Given the description of an element on the screen output the (x, y) to click on. 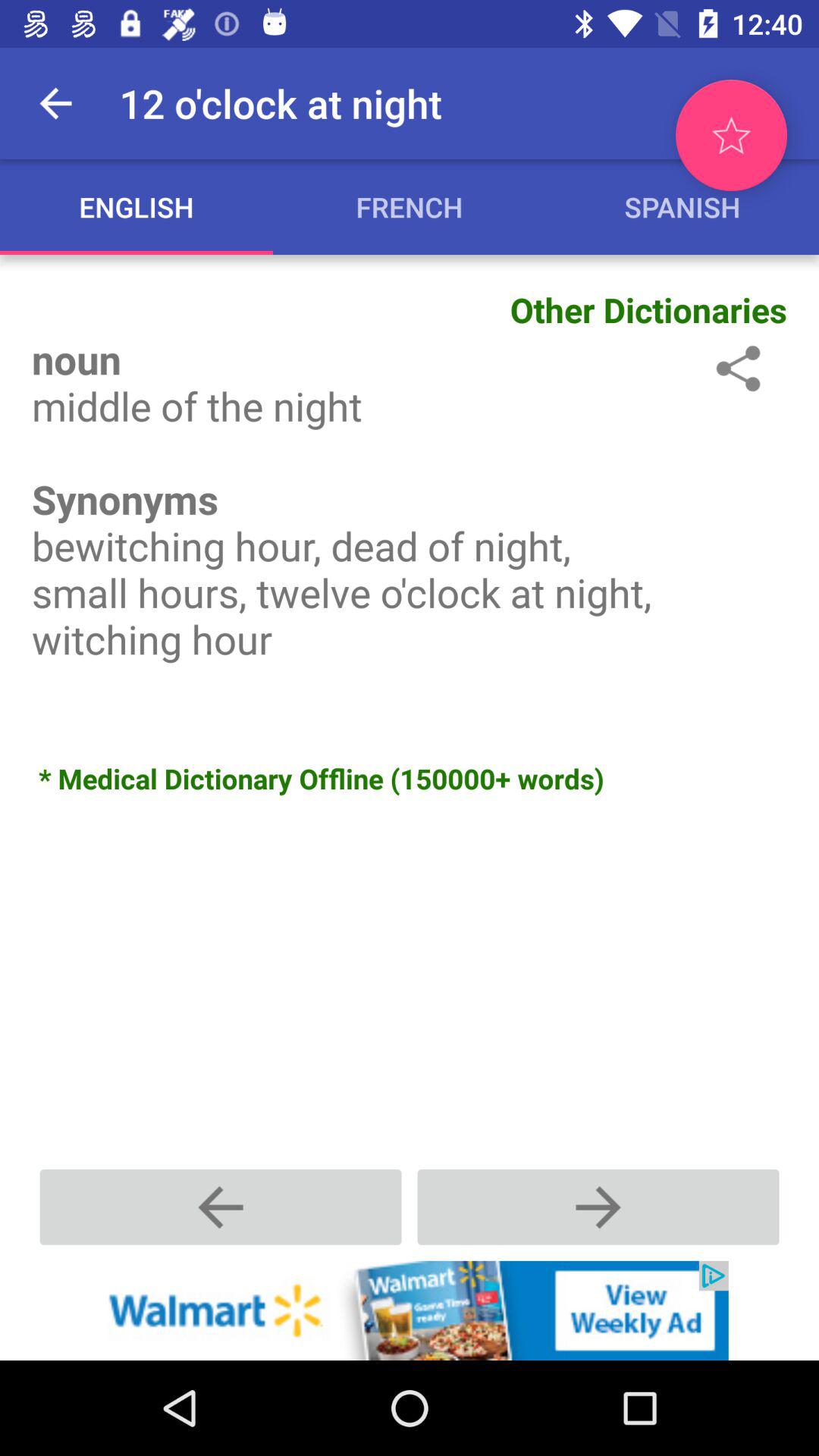
it is go to previous page element (220, 1206)
